Given the description of an element on the screen output the (x, y) to click on. 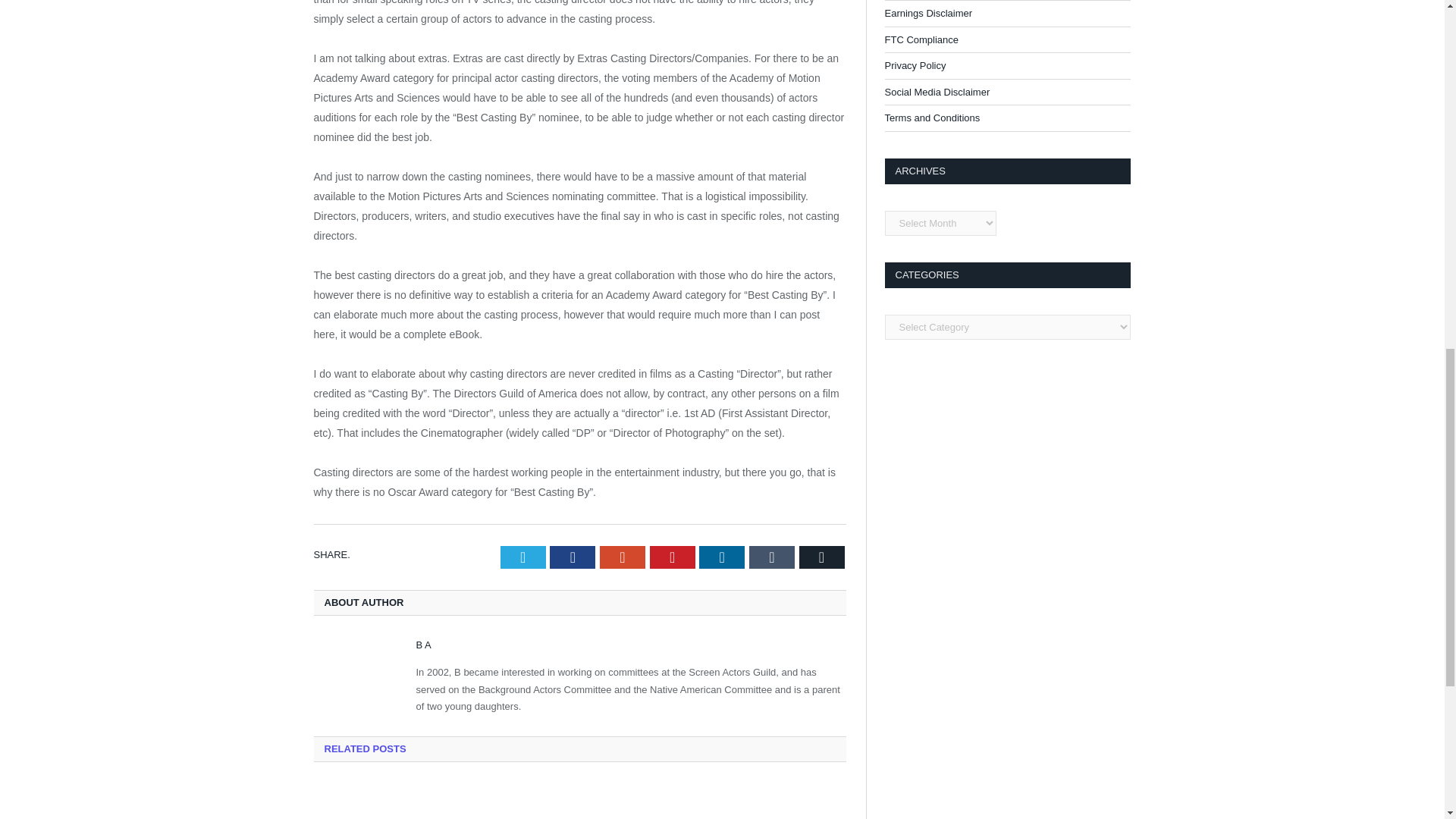
Privacy Policy (913, 65)
Terms and Conditions (931, 117)
Posts by B A (422, 644)
LinkedIn (721, 557)
FTC Compliance (920, 39)
Twitter (523, 557)
Earnings Disclaimer (927, 12)
Facebook (572, 557)
Tumblr (771, 557)
B A (422, 644)
Pinterest (672, 557)
Email (821, 557)
Social Media Disclaimer (936, 91)
